Given the description of an element on the screen output the (x, y) to click on. 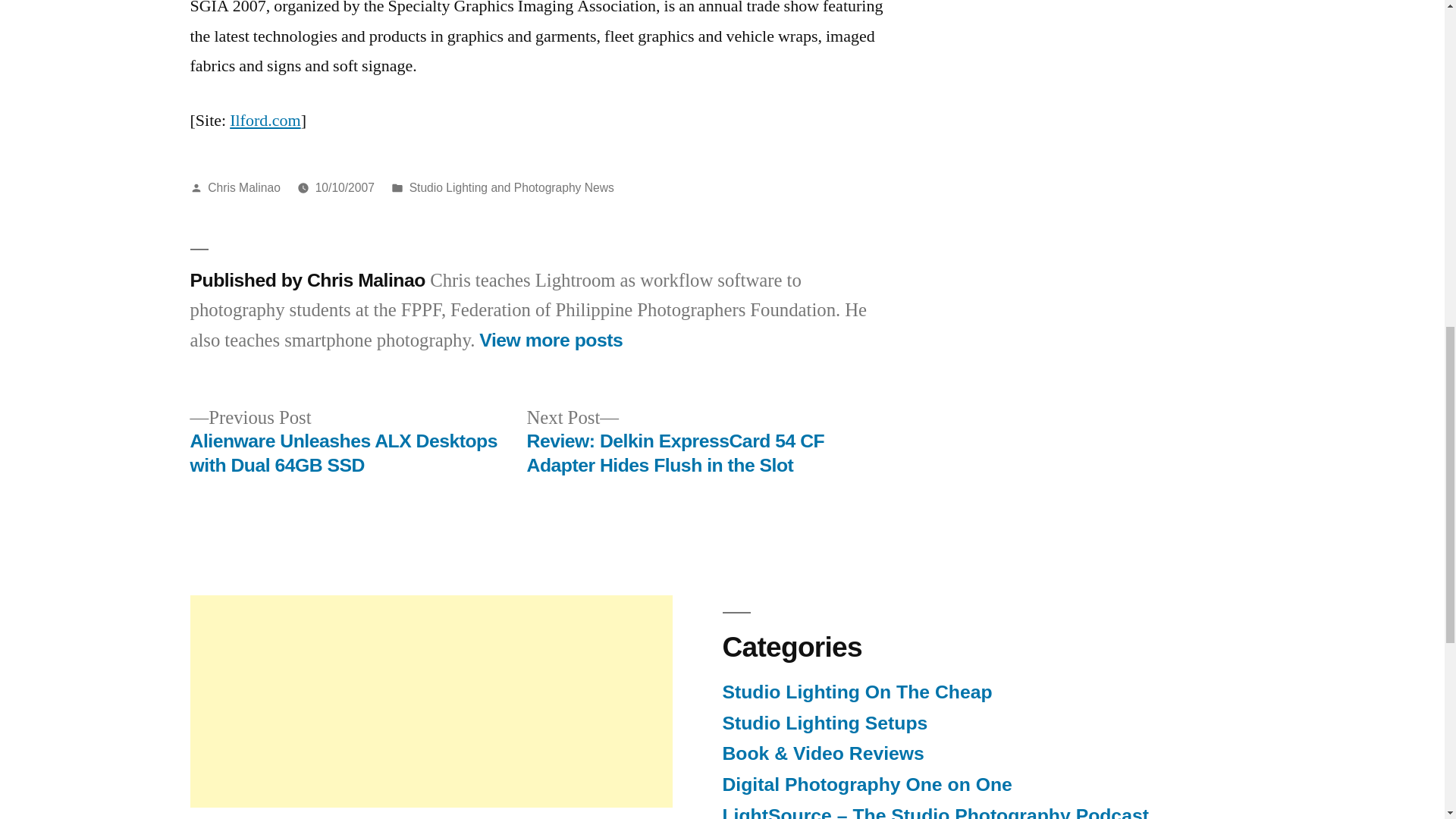
Advertisement (430, 701)
Read reviews of photography books and videos. (822, 752)
